Given the description of an element on the screen output the (x, y) to click on. 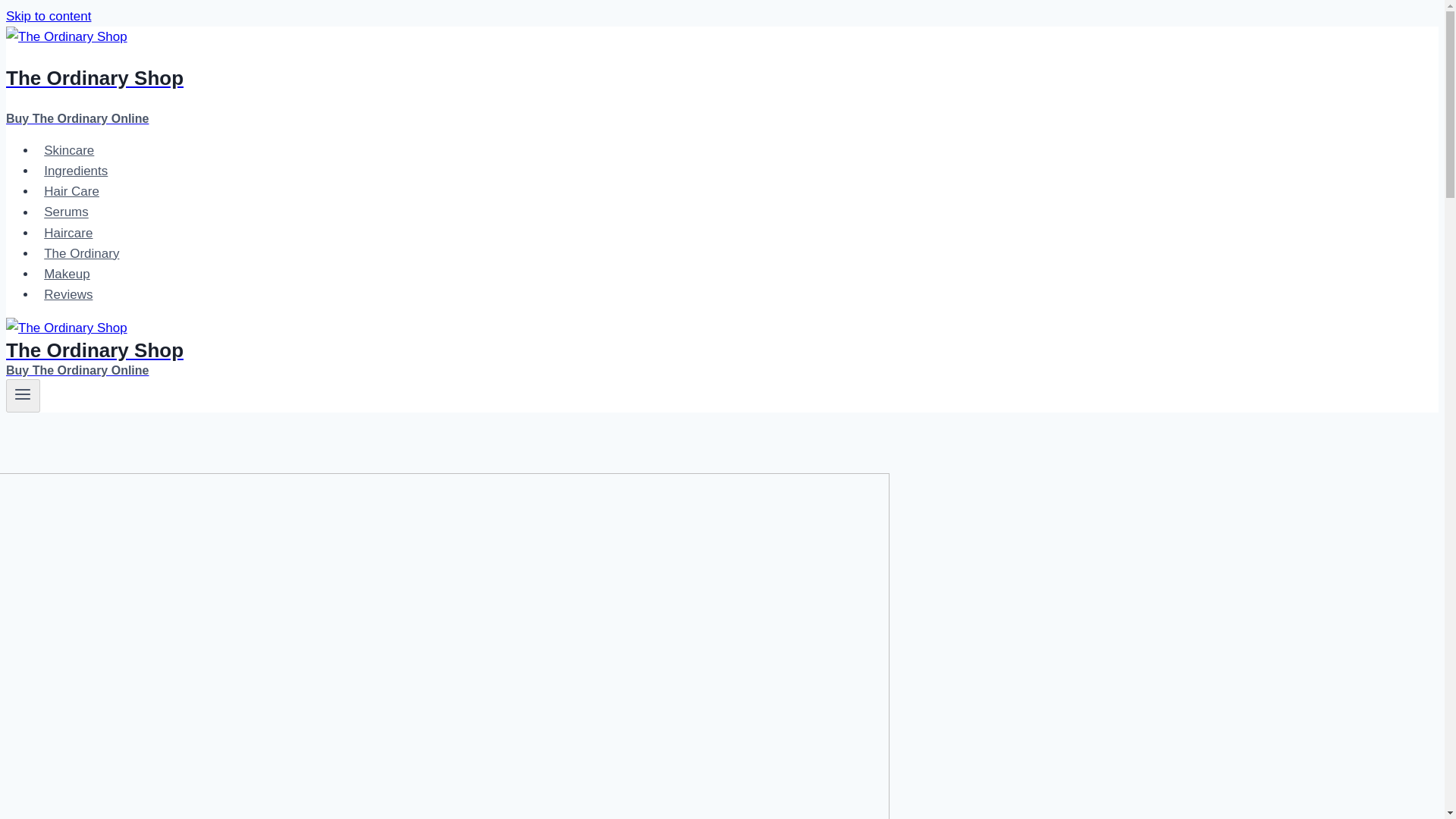
Haircare (68, 233)
Toggle Menu (494, 78)
Skincare (22, 393)
Skip to content (68, 150)
Skip to content (47, 16)
Toggle Menu (47, 16)
Serums (22, 395)
Ingredients (66, 211)
Hair Care (76, 170)
Reviews (71, 191)
The Ordinary (68, 294)
Makeup (82, 253)
